Given the description of an element on the screen output the (x, y) to click on. 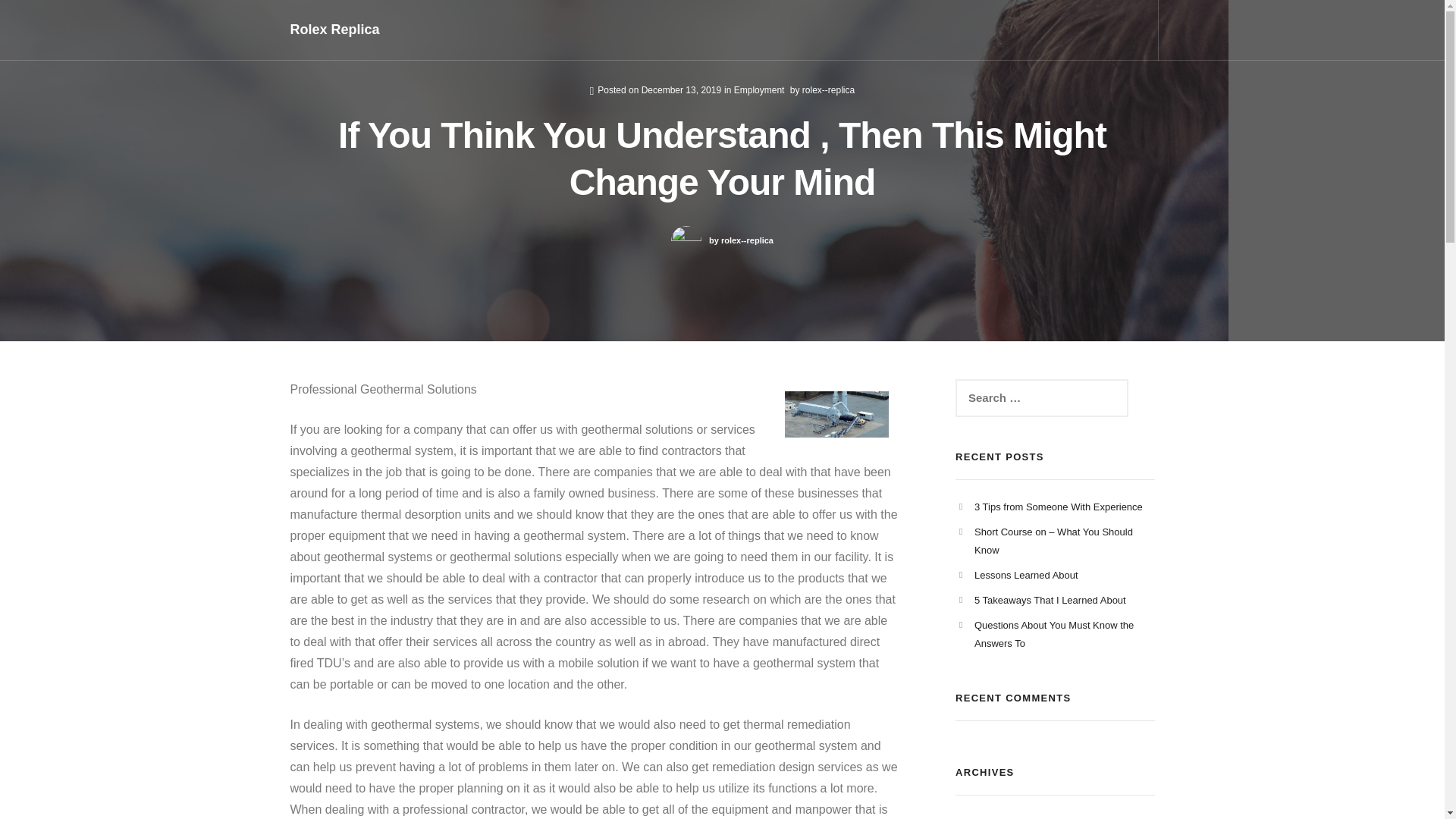
December 13, 2019 (681, 90)
Rolex Replica (333, 30)
by rolex--replica (722, 241)
Lessons Learned About (1026, 574)
rolex--replica (828, 90)
Search (25, 11)
5 Takeaways That I Learned About (1049, 600)
3 Tips from Someone With Experience (1058, 506)
August 2021 (1001, 817)
Questions About You Must Know the Answers To (1054, 634)
Employment (758, 90)
